Given the description of an element on the screen output the (x, y) to click on. 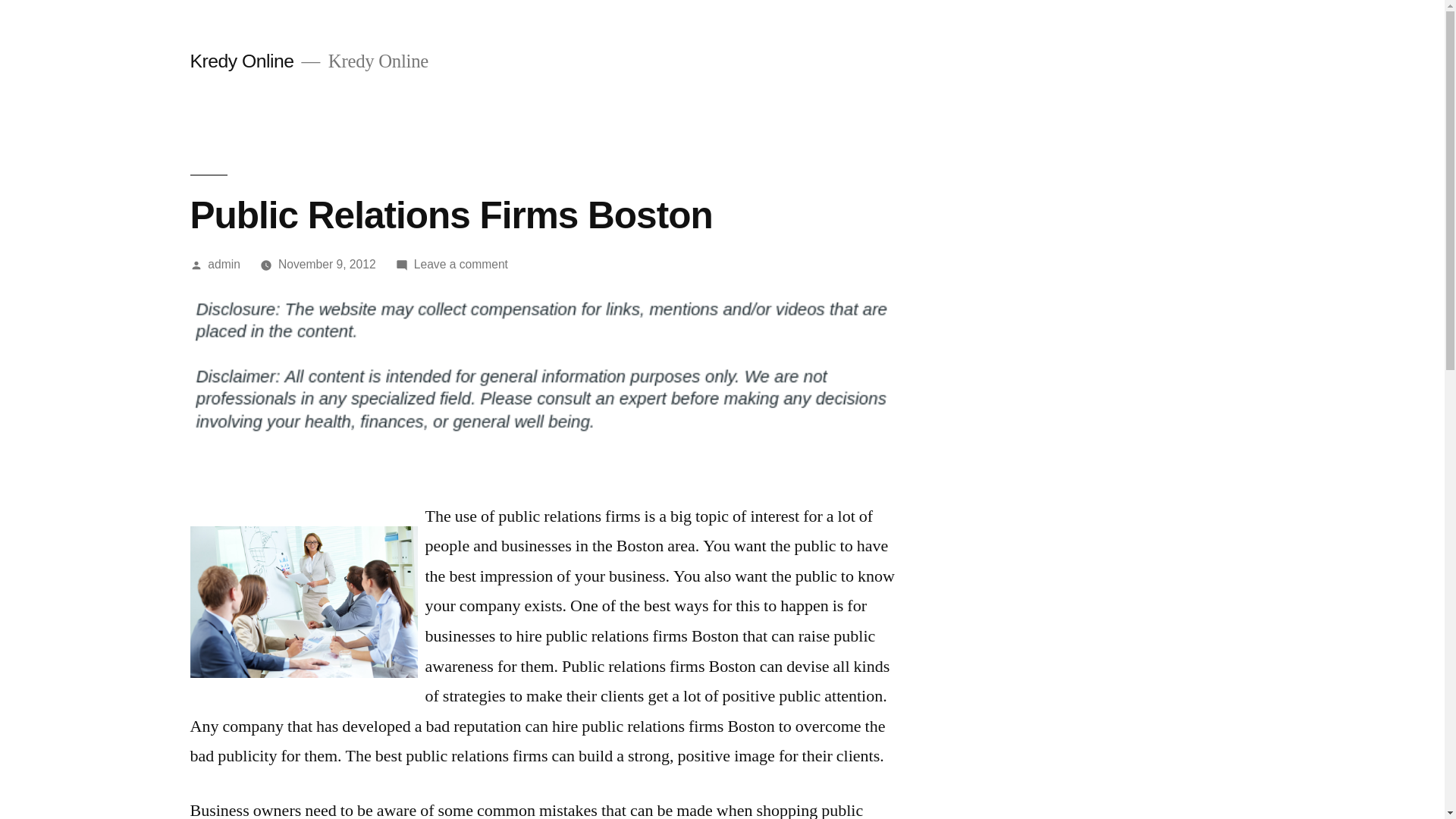
Kredy Online (241, 60)
admin (224, 264)
November 9, 2012 (460, 264)
